Given the description of an element on the screen output the (x, y) to click on. 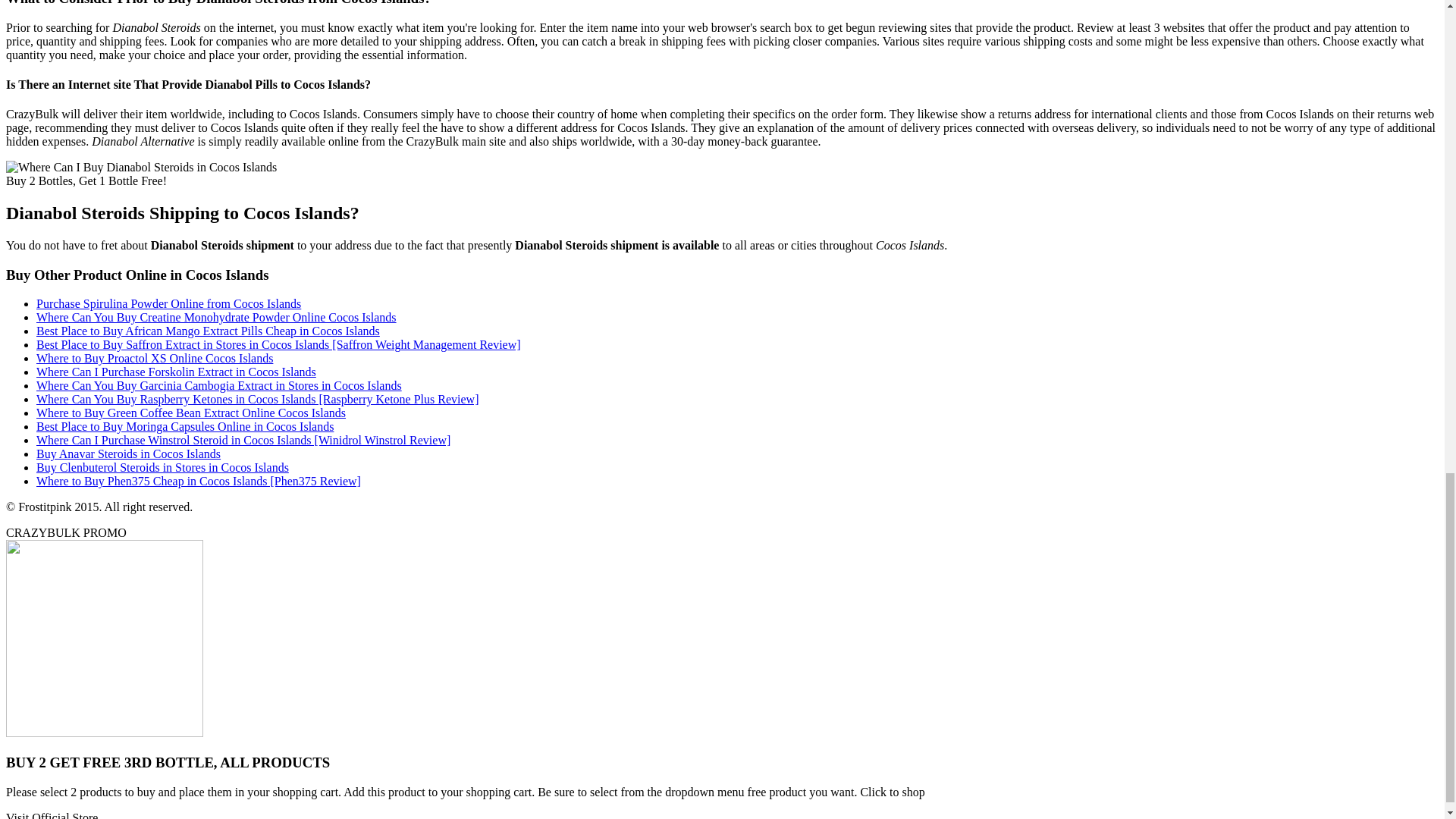
CRAZYBULK PROMO (65, 532)
Buy Anavar Steroids in Cocos Islands (128, 453)
Buy Clenbuterol Steroids in Stores in Cocos Islands (162, 467)
Where Can I Buy Dianabol Steroids in Cocos Islands (140, 167)
Where Can I Purchase Forskolin Extract in Cocos Islands (175, 371)
Best Place to Buy Moringa Capsules Online in Cocos Islands (184, 426)
Where to Buy Proactol XS Online Cocos Islands (154, 358)
Where to Buy Proactol XS Online Cocos Islands (154, 358)
